Given the description of an element on the screen output the (x, y) to click on. 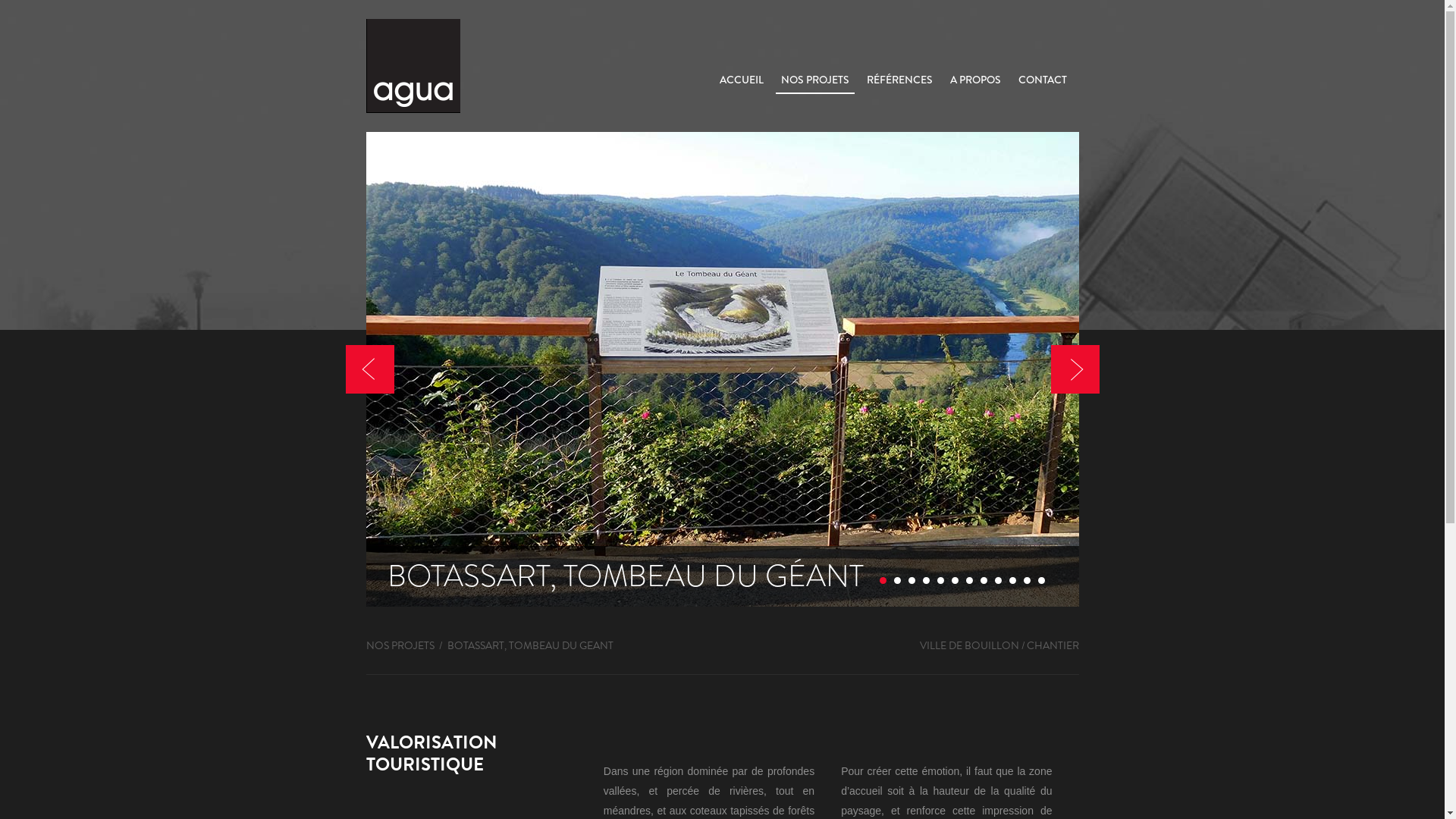
CONTACT Element type: text (1042, 79)
Agua Element type: text (412, 65)
NOS PROJETS Element type: text (399, 645)
NOS PROJETS Element type: text (814, 80)
A PROPOS Element type: text (975, 79)
ACCUEIL Element type: text (741, 79)
